Given the description of an element on the screen output the (x, y) to click on. 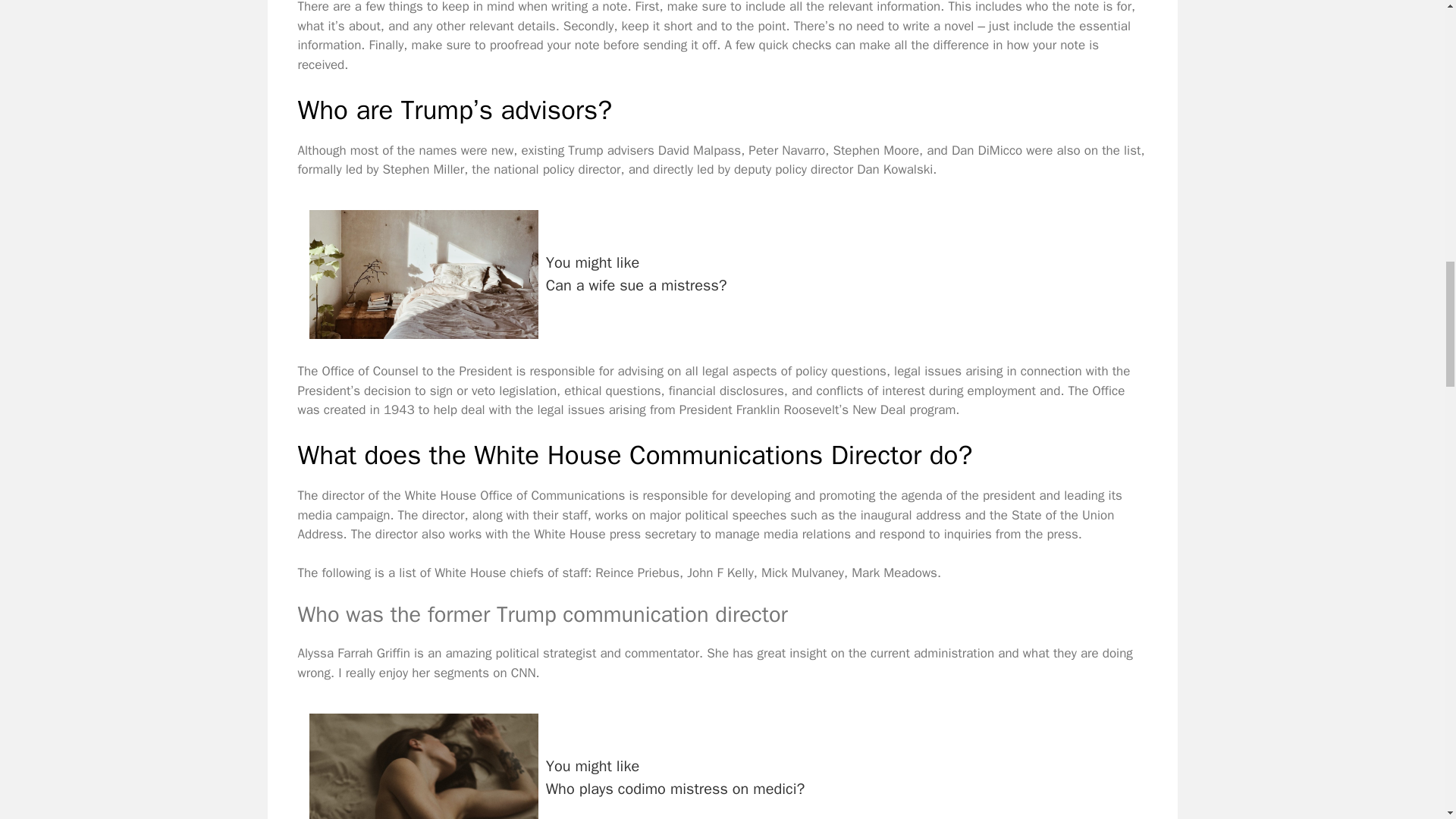
Is hope hicks trumps mistress? (722, 760)
Is hope hicks trumps mistress? (423, 766)
